Given the description of an element on the screen output the (x, y) to click on. 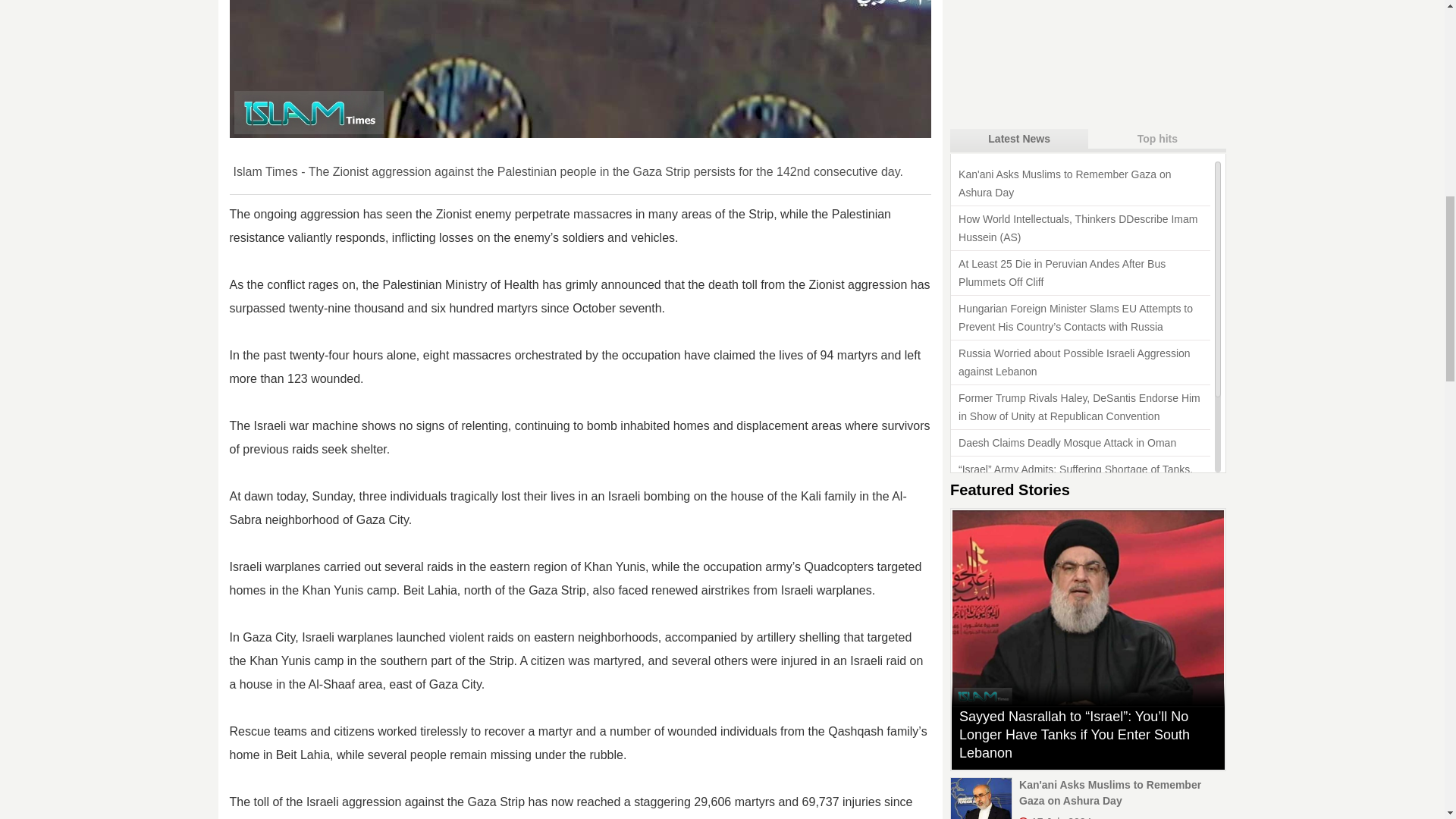
Advertisement (1063, 59)
